Given the description of an element on the screen output the (x, y) to click on. 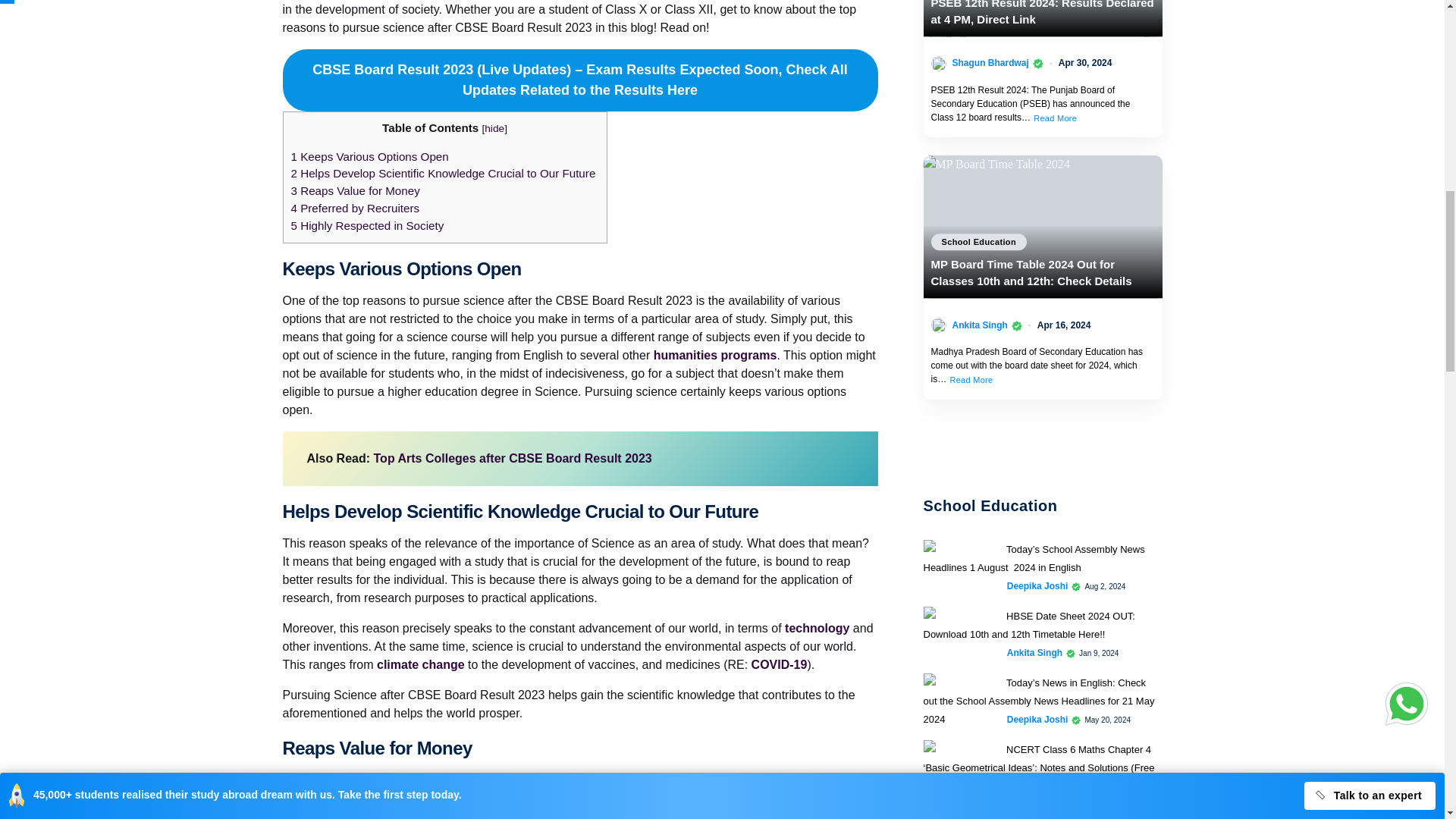
View all posts by Shagun Bhardwaj (990, 62)
View all posts by Ankita Singh (1034, 653)
View all posts by Deepika Joshi (1037, 585)
View all posts by Priya Garg (1029, 786)
View all posts by Ankita Singh (979, 325)
View all posts by Deepika Joshi (1037, 719)
